Given the description of an element on the screen output the (x, y) to click on. 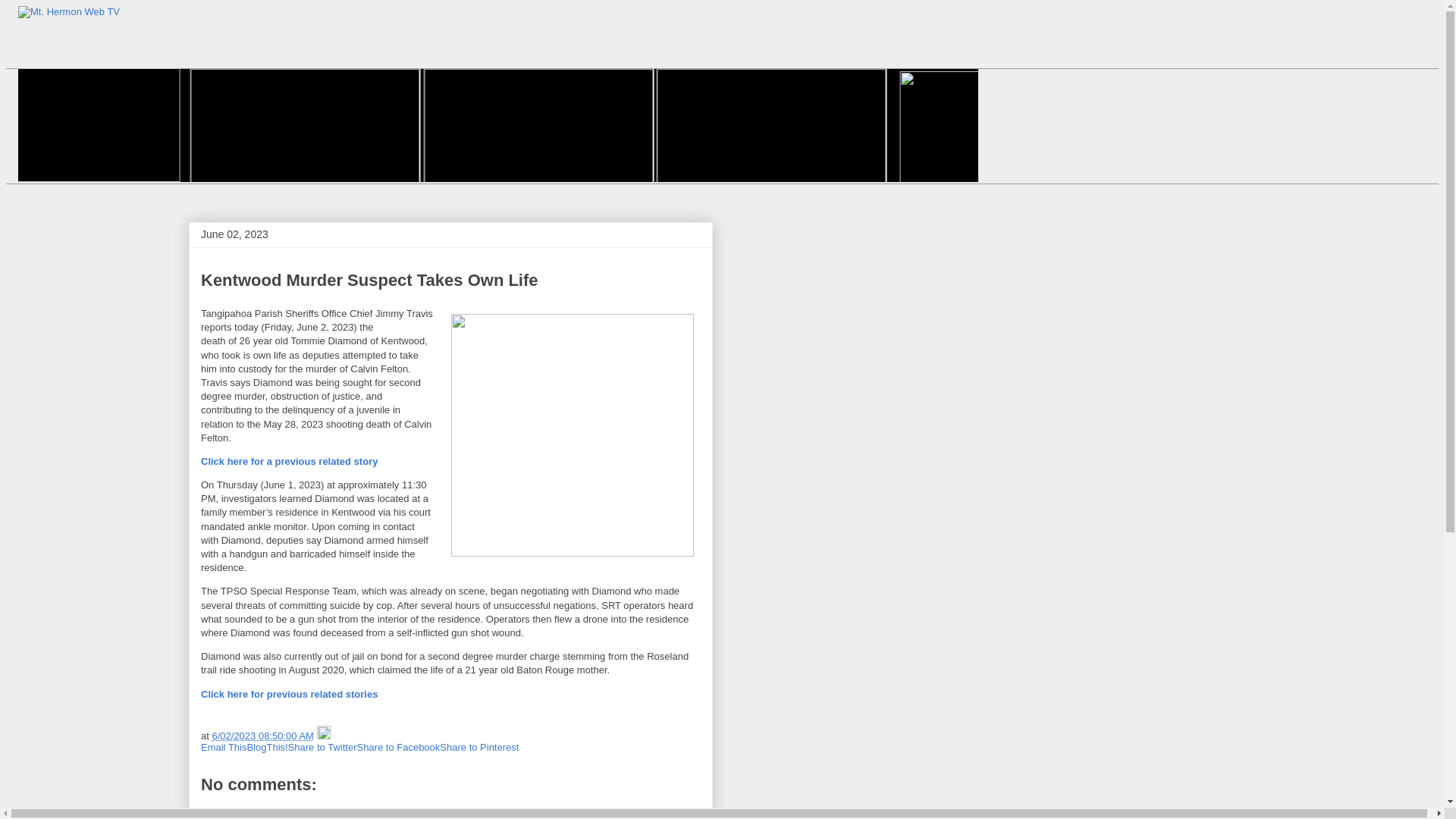
Email This (223, 747)
Share to Pinterest (478, 747)
Share to Twitter (322, 747)
Email This (223, 747)
Share to Pinterest (478, 747)
Click here for previous related stories (288, 694)
Share to Facebook (397, 747)
Share to Twitter (322, 747)
BlogThis! (266, 747)
Click here for a previous related story (288, 460)
Share to Facebook (397, 747)
Edit Post (323, 736)
BlogThis! (266, 747)
permanent link (262, 736)
